Given the description of an element on the screen output the (x, y) to click on. 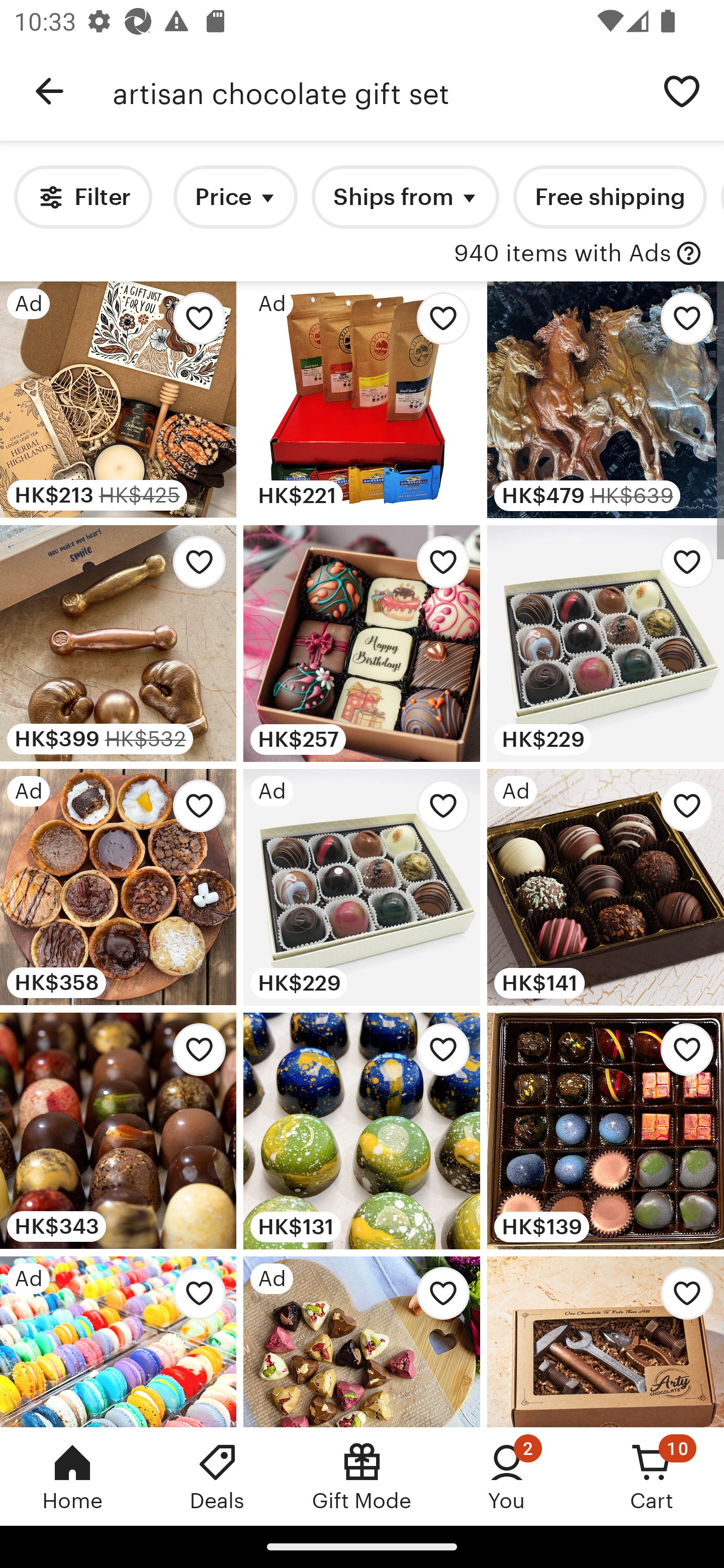
Navigate up (49, 91)
Save search (681, 90)
artisan chocolate gift set (375, 91)
Filter (82, 197)
Price (235, 197)
Ships from (405, 197)
Free shipping (609, 197)
940 items with Ads (562, 253)
with Ads (688, 253)
Add Truffles Assortment Gift Box to favorites (681, 810)
Deals (216, 1475)
Gift Mode (361, 1475)
You, 2 new notifications You (506, 1475)
Cart, 10 new notifications Cart (651, 1475)
